Given the description of an element on the screen output the (x, y) to click on. 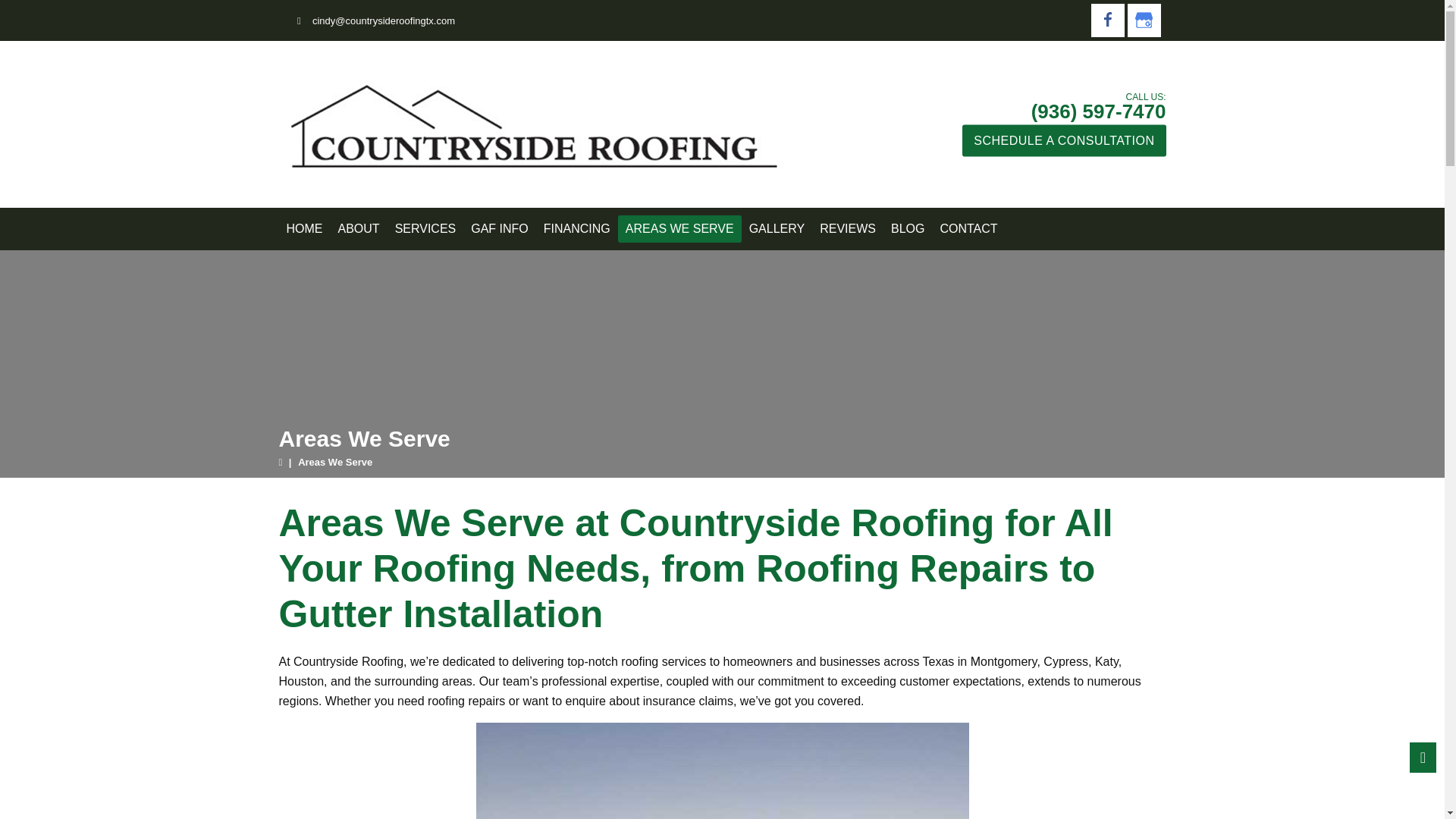
Service Areas (722, 770)
Google Business Profile (1143, 20)
Countryside Roofing (529, 123)
Facebook (1107, 20)
SCHEDULE A CONSULTATION (1064, 140)
ABOUT (358, 228)
SERVICES (425, 228)
HOME (304, 228)
